Given the description of an element on the screen output the (x, y) to click on. 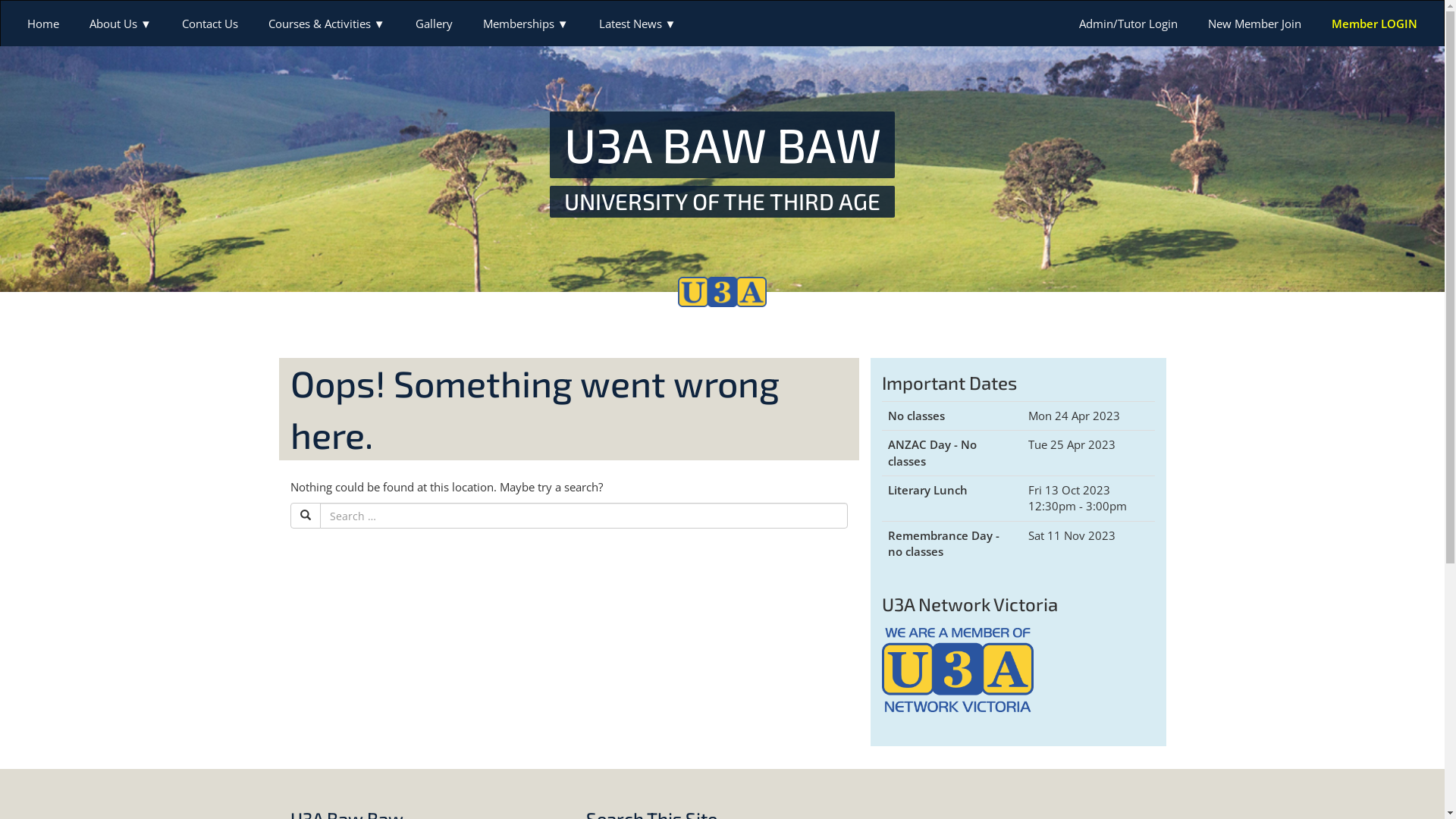
U3A BAW BAW
UNIVERSITY OF THE THIRD AGE Element type: text (722, 163)
Memberships Element type: text (525, 23)
Admin/Tutor Login Element type: text (1127, 23)
Latest News Element type: text (637, 23)
Courses & Activities Element type: text (326, 23)
New Member Join Element type: text (1254, 23)
Gallery Element type: text (433, 23)
About Us Element type: text (120, 23)
Member LOGIN Element type: text (1374, 23)
Home Element type: text (43, 23)
Search for: Element type: hover (583, 515)
Contact Us Element type: text (209, 23)
